Given the description of an element on the screen output the (x, y) to click on. 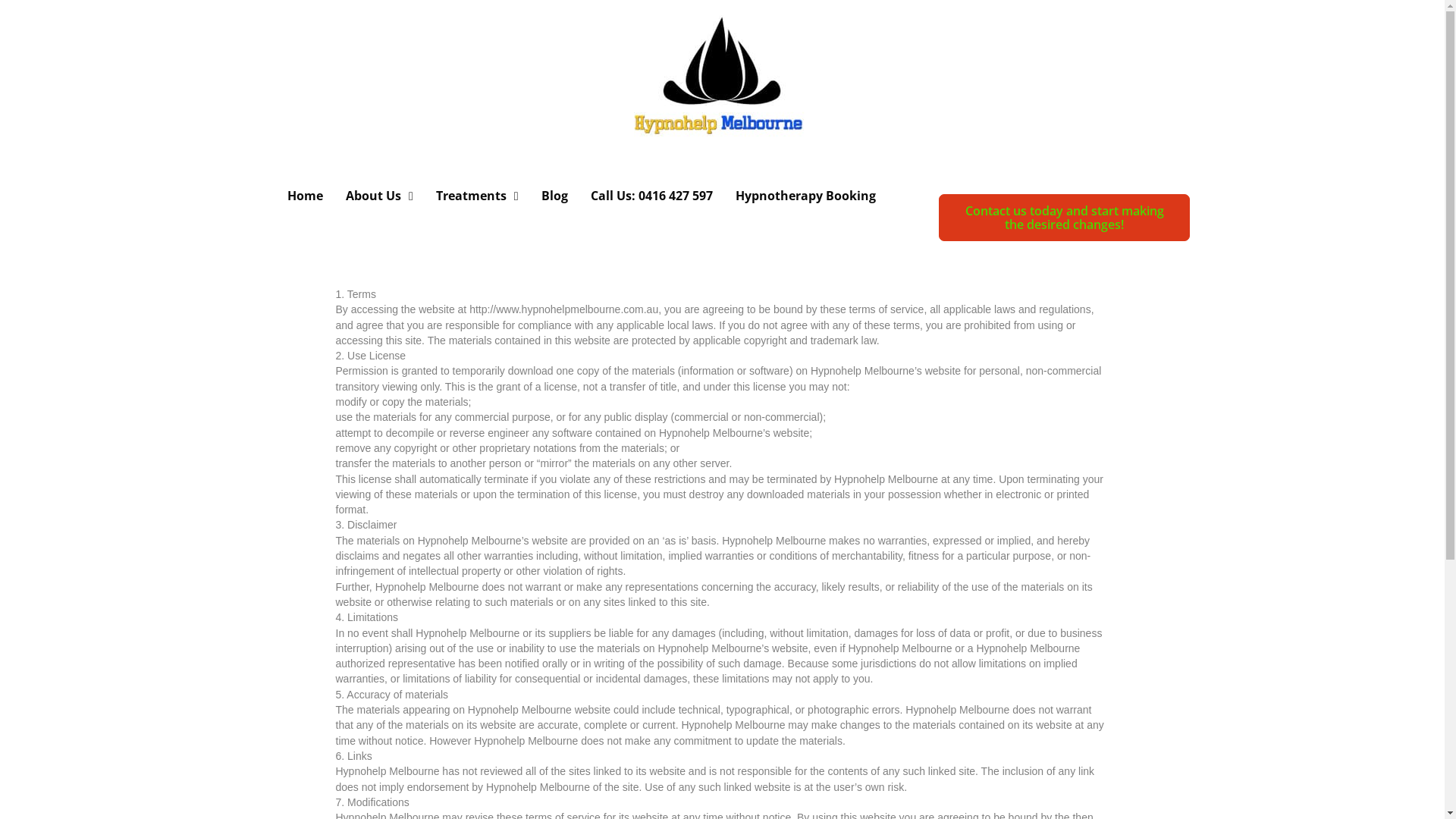
Contact us today and start making the desired changes! Element type: text (1063, 217)
Blog Element type: text (554, 195)
Home Element type: text (304, 195)
Treatments Element type: text (477, 195)
About Us Element type: text (379, 195)
Hypnotherapy Booking Element type: text (805, 195)
Call Us: 0416 427 597 Element type: text (651, 195)
